Given the description of an element on the screen output the (x, y) to click on. 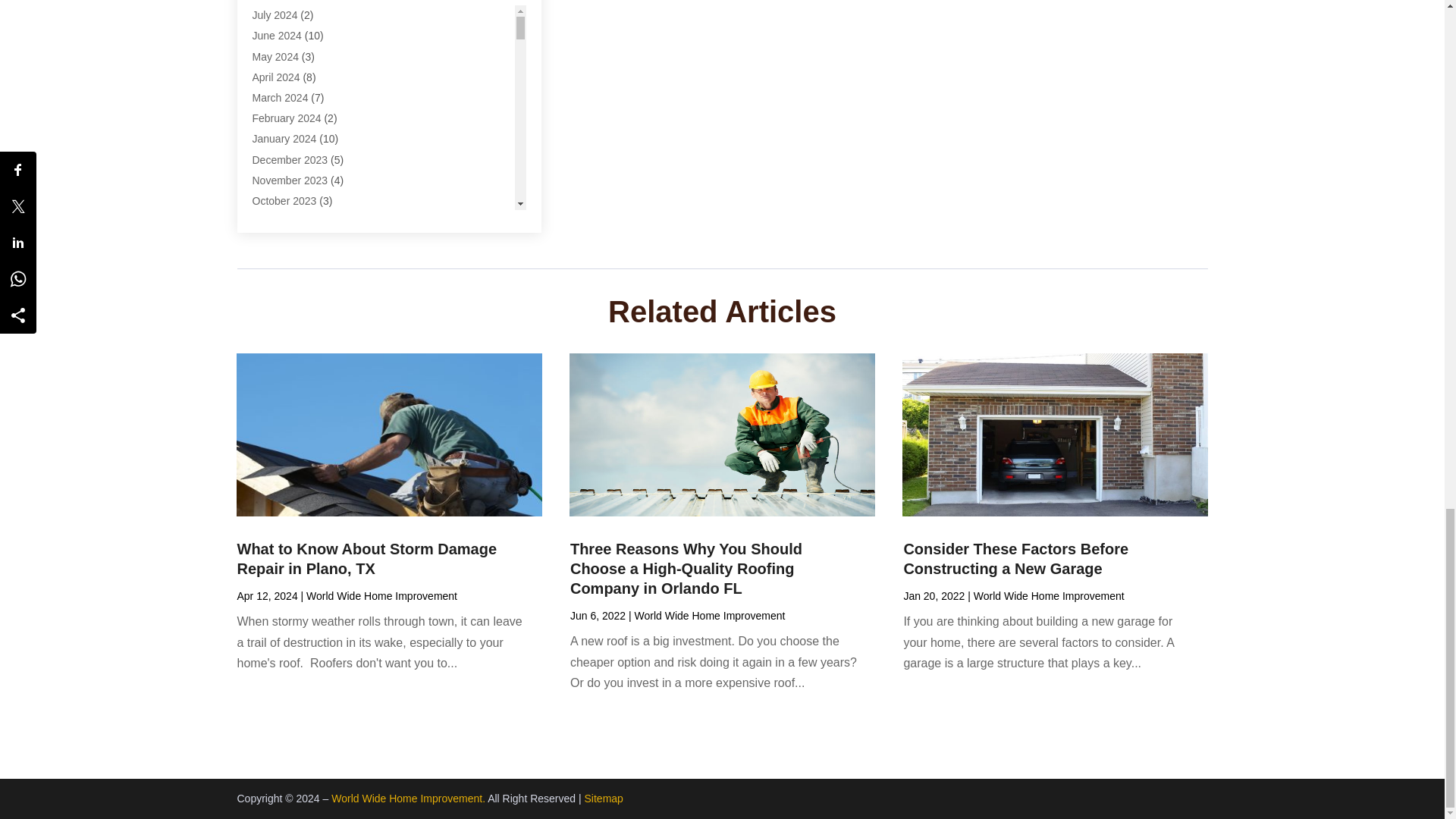
Cleaning Services (294, 60)
Contractor (276, 121)
Cleaning Service (291, 39)
Cleaning (272, 19)
Chimney Sweep (290, 2)
Cleaning Tips And Tools (308, 80)
Construction And Maintenance (323, 101)
Custom Home Builder (303, 143)
